Given the description of an element on the screen output the (x, y) to click on. 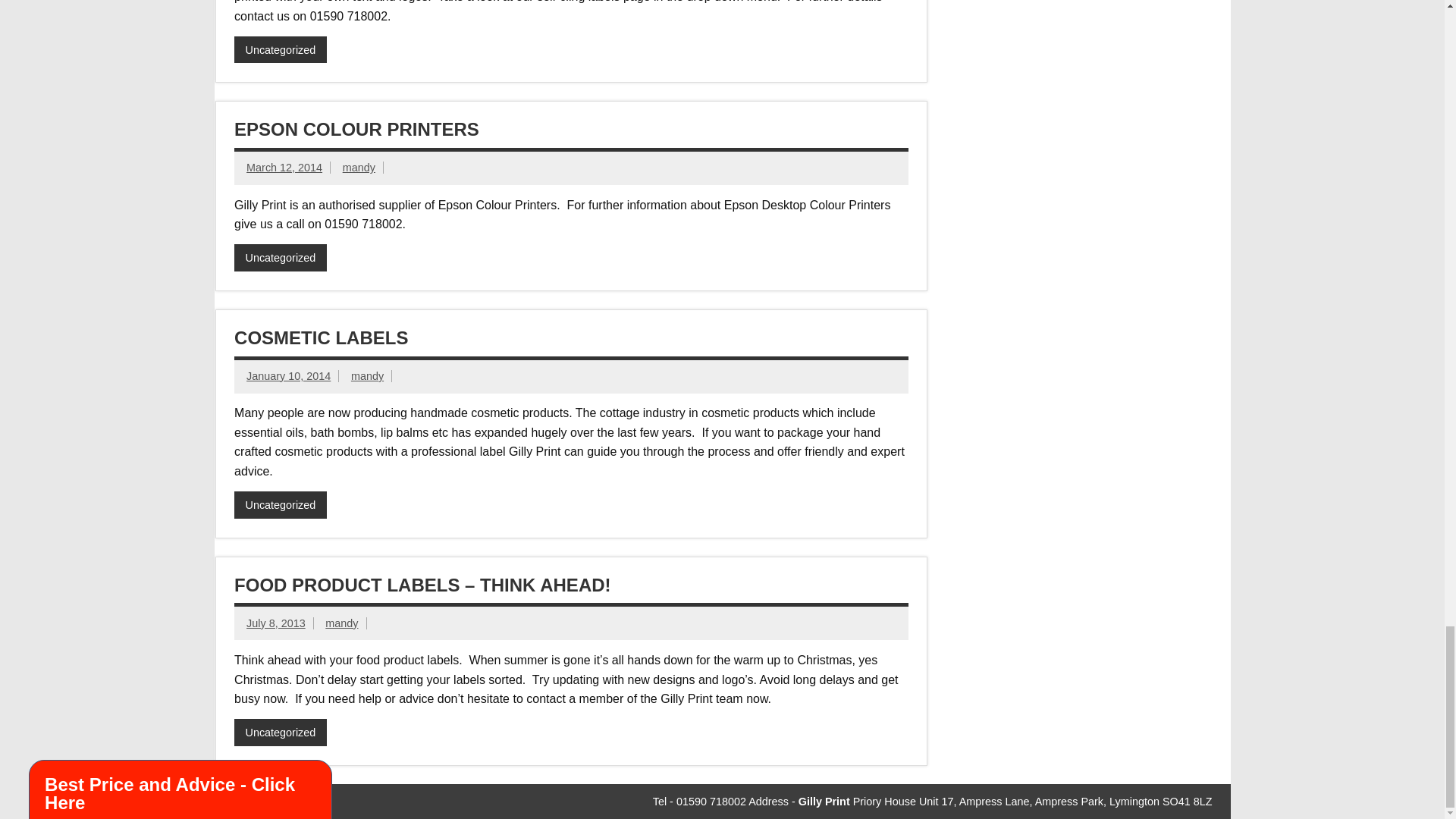
View all posts by mandy (358, 167)
4:23 pm (275, 623)
View all posts by mandy (367, 376)
12:46 pm (283, 167)
View all posts by mandy (341, 623)
3:34 pm (288, 376)
